Given the description of an element on the screen output the (x, y) to click on. 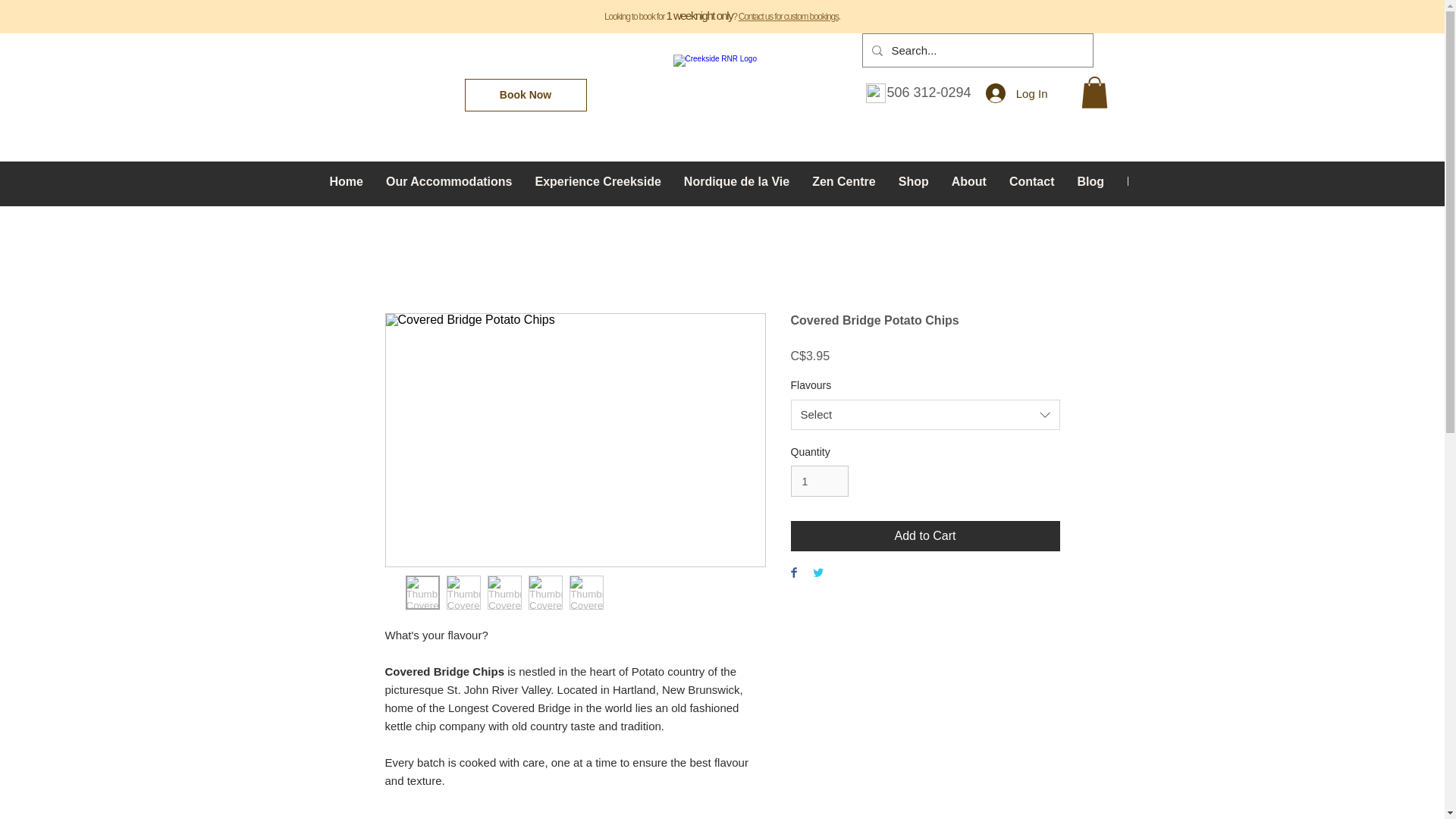
Select (924, 414)
Contact us for custom bookings. (789, 16)
Home (346, 183)
Log In (1016, 92)
About (968, 183)
Zen Centre (843, 183)
506 312-0294 (928, 92)
Our Accommodations (449, 183)
Blog (1090, 183)
Book Now (525, 94)
